Given the description of an element on the screen output the (x, y) to click on. 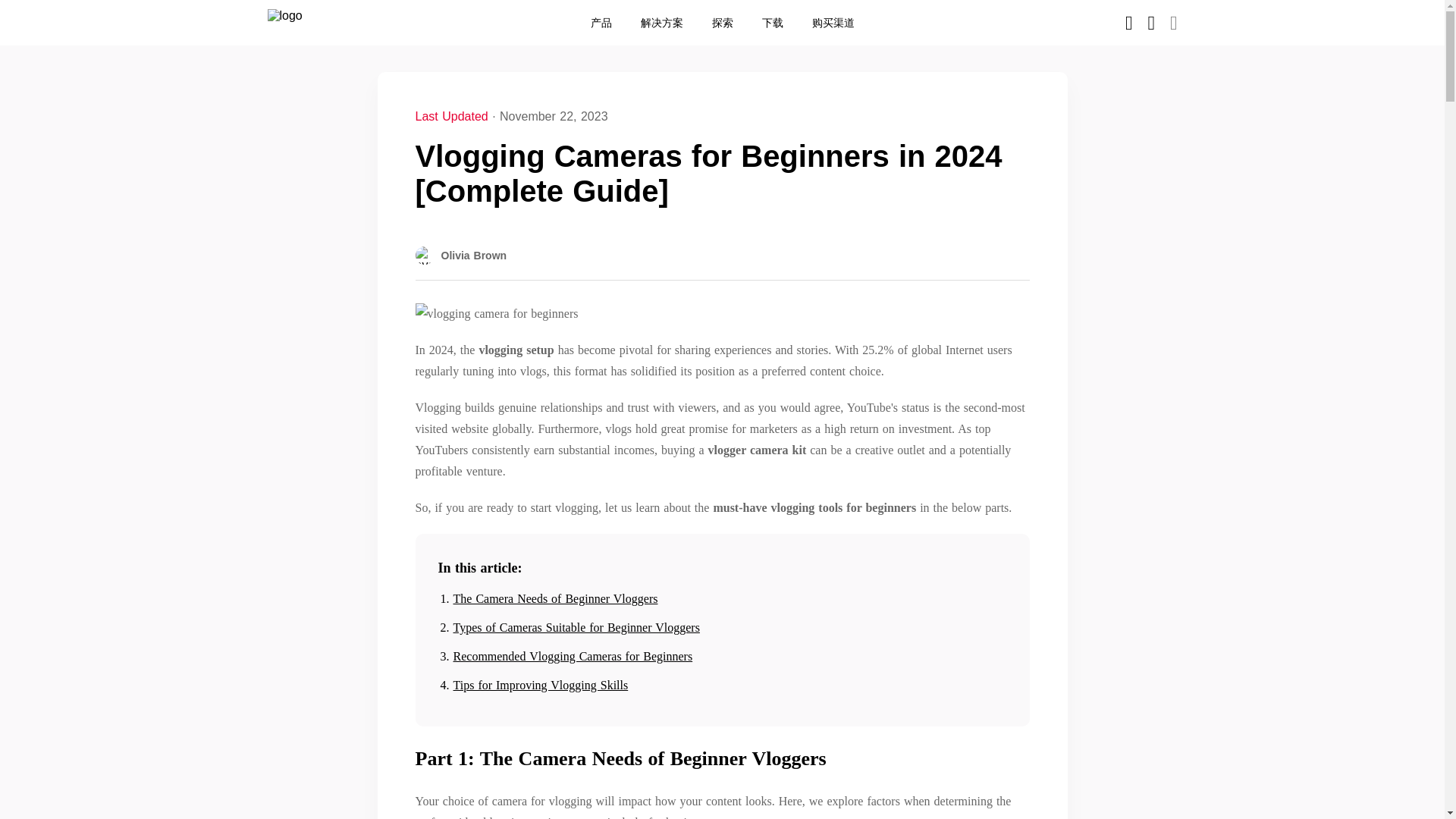
Tips for Improving Vlogging Skills (540, 684)
Recommended Vlogging Cameras for Beginners (572, 656)
Types of Cameras Suitable for Beginner Vloggers (576, 626)
The Camera Needs of Beginner Vloggers (555, 598)
Olivia Brown (460, 255)
